Given the description of an element on the screen output the (x, y) to click on. 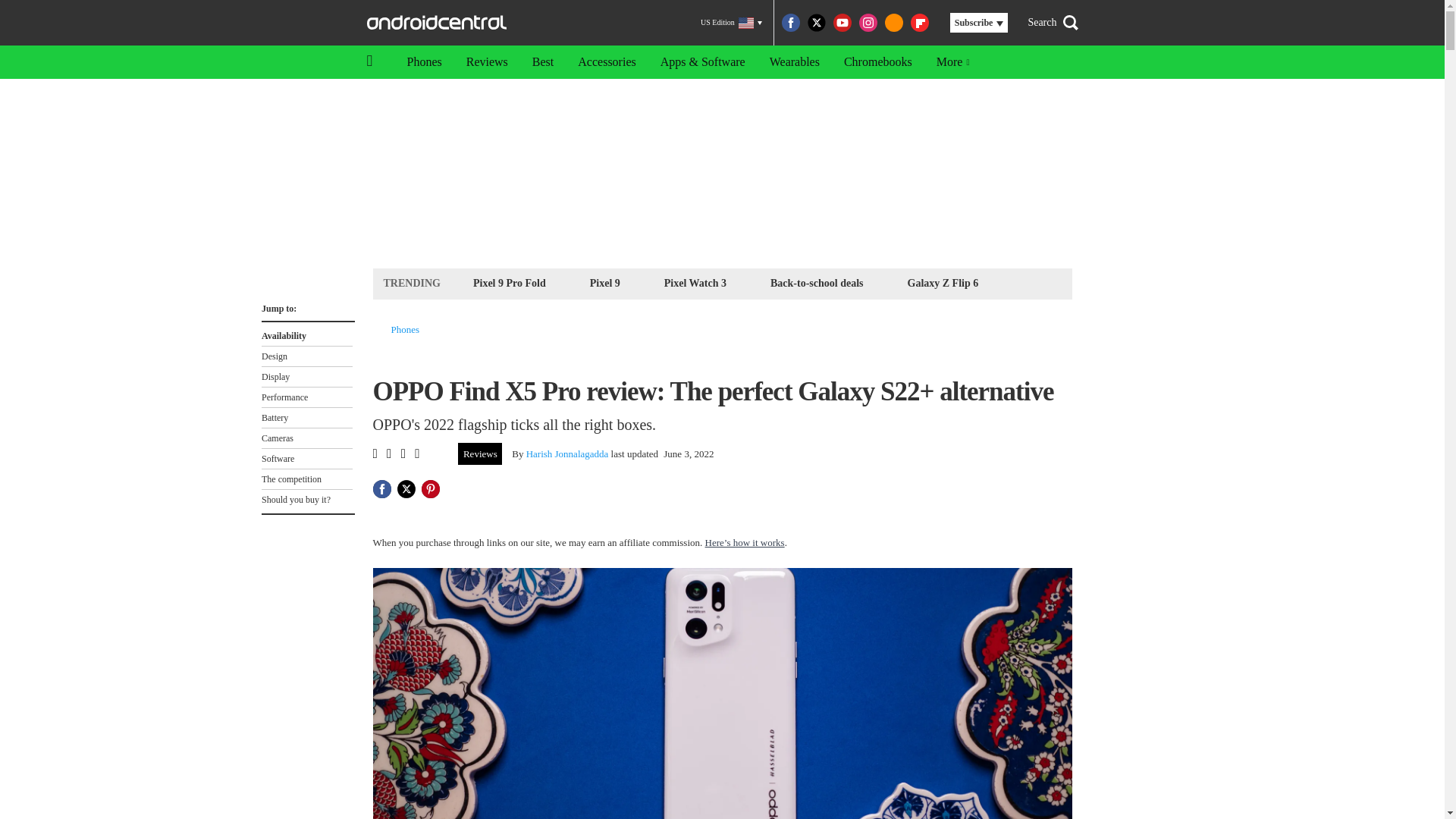
Chromebooks (877, 61)
Pixel 9 (605, 282)
Jump to: (307, 305)
Pixel 9 Pro Fold (509, 282)
Phones (423, 61)
Wearables (794, 61)
Phones (405, 328)
US Edition (731, 22)
Accessories (606, 61)
Pixel Watch 3 (695, 282)
